Given the description of an element on the screen output the (x, y) to click on. 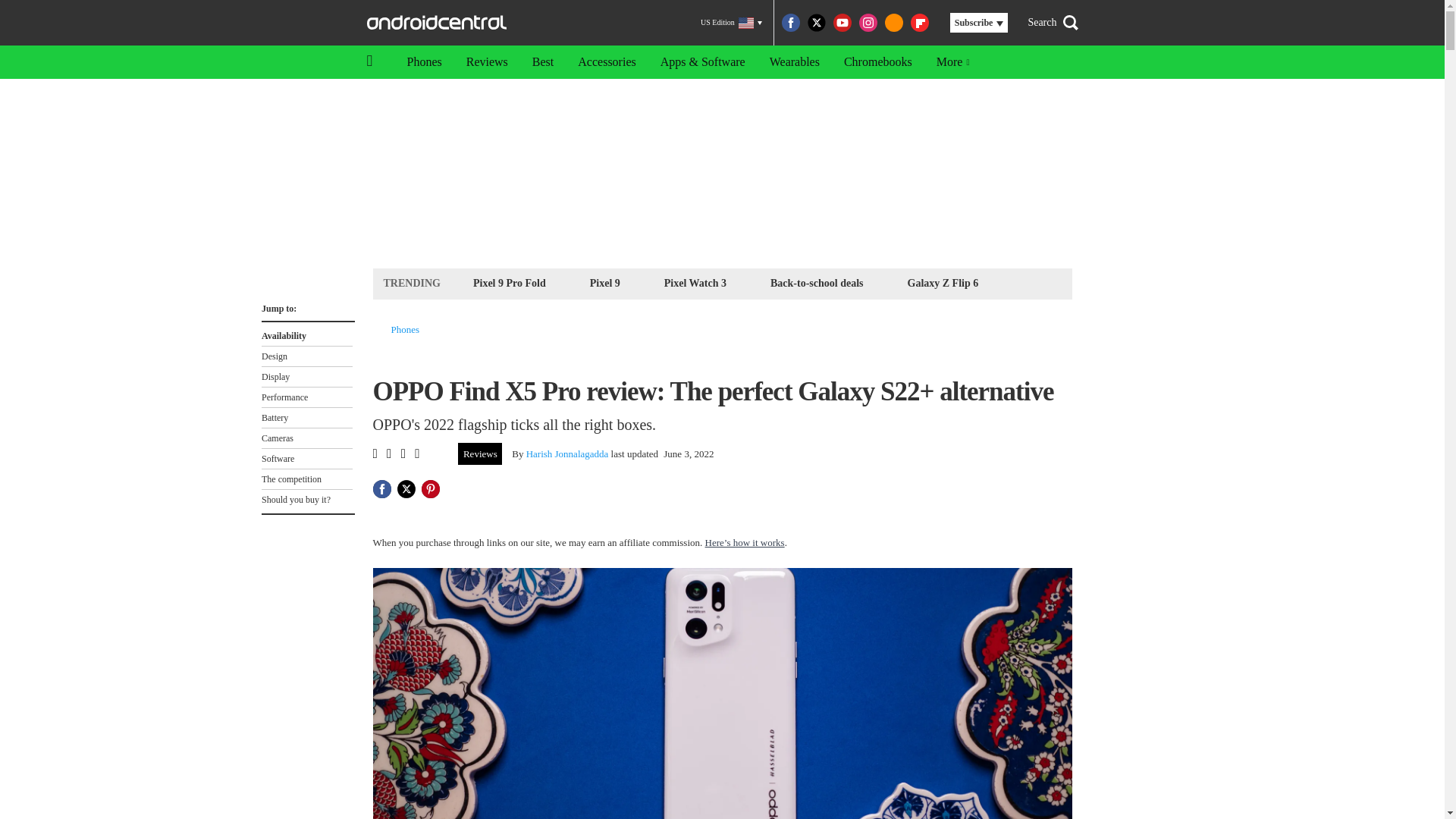
Chromebooks (877, 61)
Pixel 9 (605, 282)
Jump to: (307, 305)
Pixel 9 Pro Fold (509, 282)
Phones (423, 61)
Wearables (794, 61)
Phones (405, 328)
US Edition (731, 22)
Accessories (606, 61)
Pixel Watch 3 (695, 282)
